Given the description of an element on the screen output the (x, y) to click on. 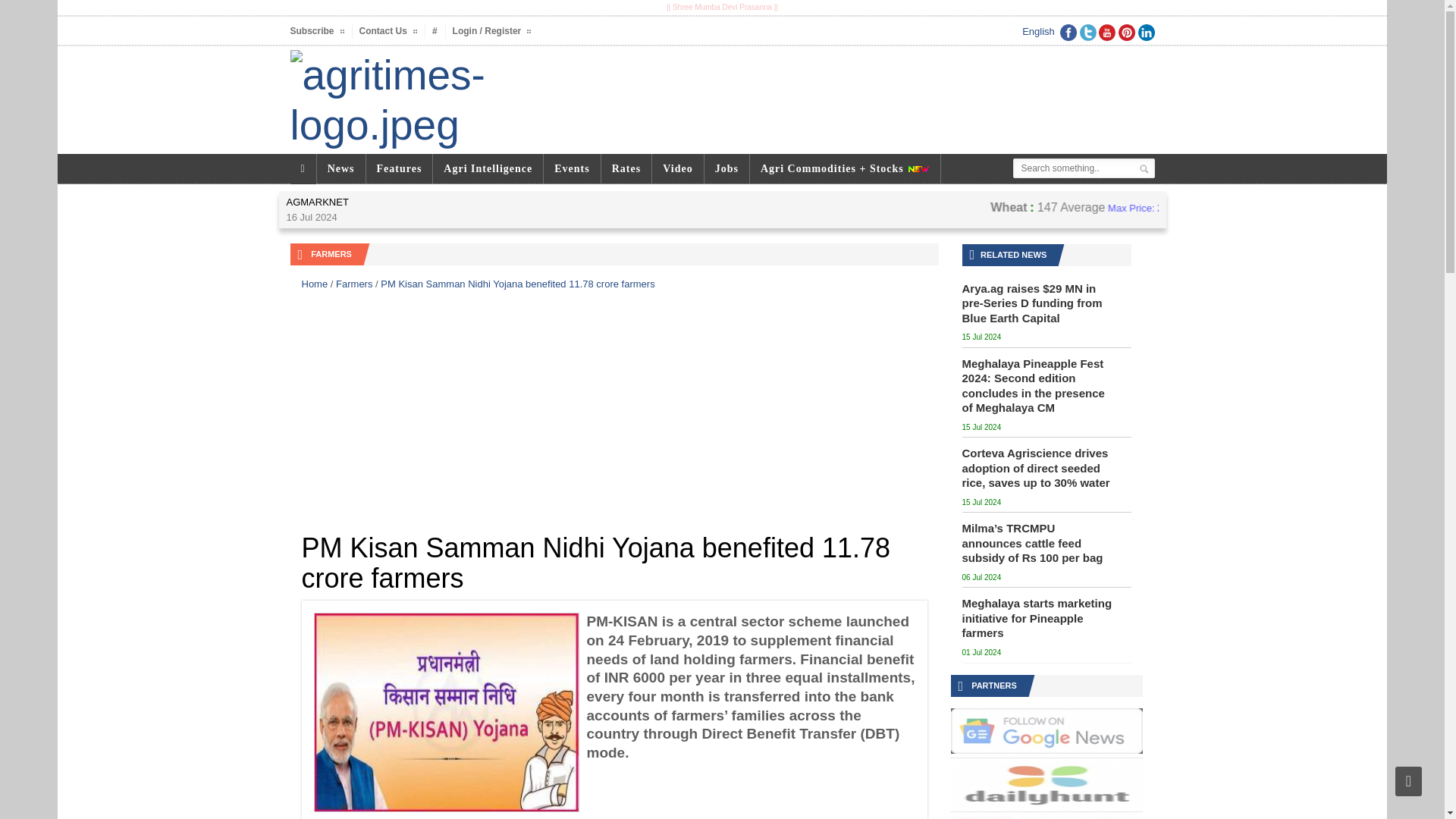
Contact Us (388, 31)
keyword (1083, 167)
News (341, 168)
Advertisement (614, 412)
Subscribe (316, 31)
English (1038, 30)
